Given the description of an element on the screen output the (x, y) to click on. 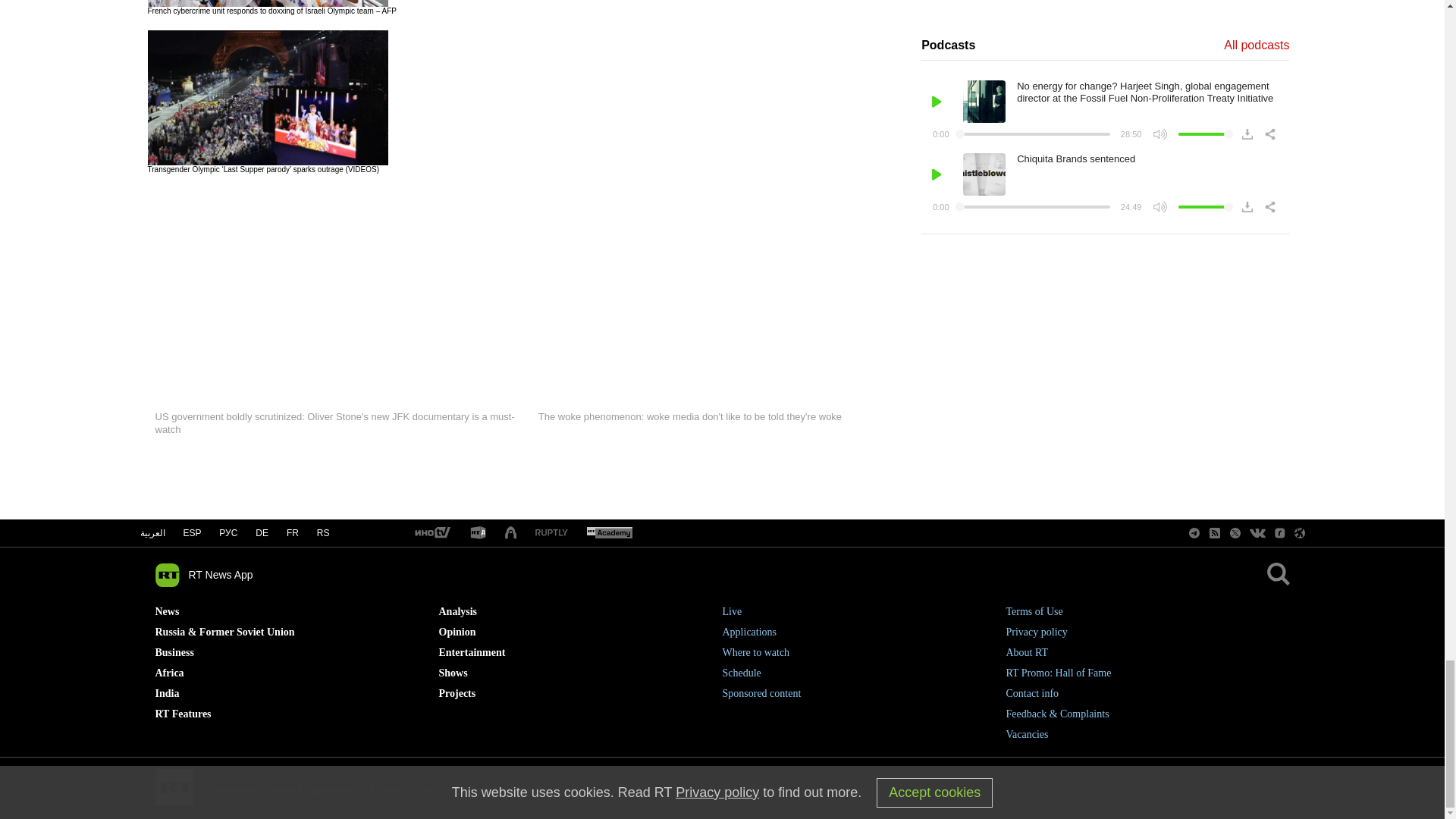
RT  (478, 533)
RT  (551, 533)
RT  (431, 533)
RT  (608, 533)
